Given the description of an element on the screen output the (x, y) to click on. 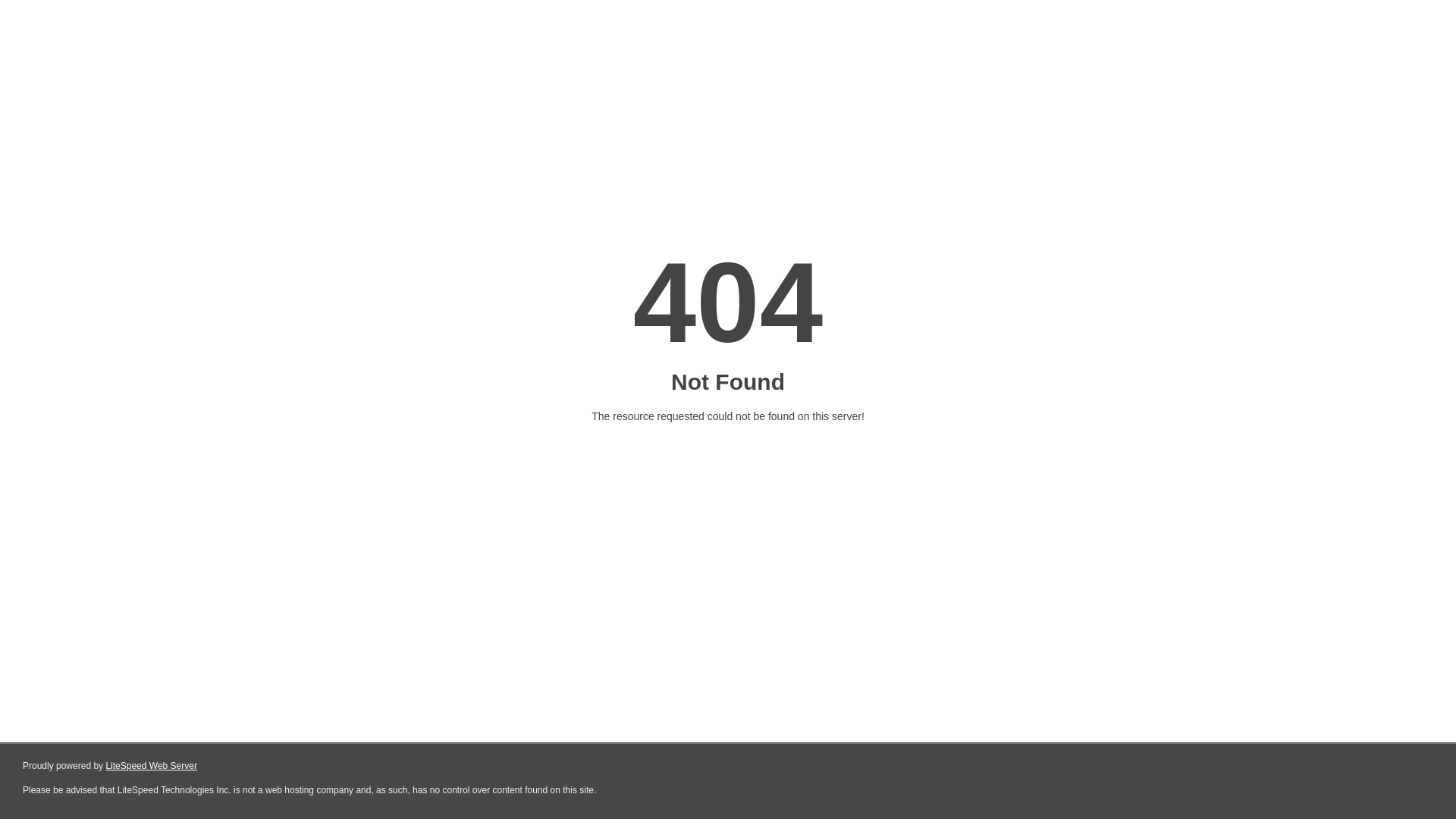
LiteSpeed Web Server Element type: text (151, 765)
